Given the description of an element on the screen output the (x, y) to click on. 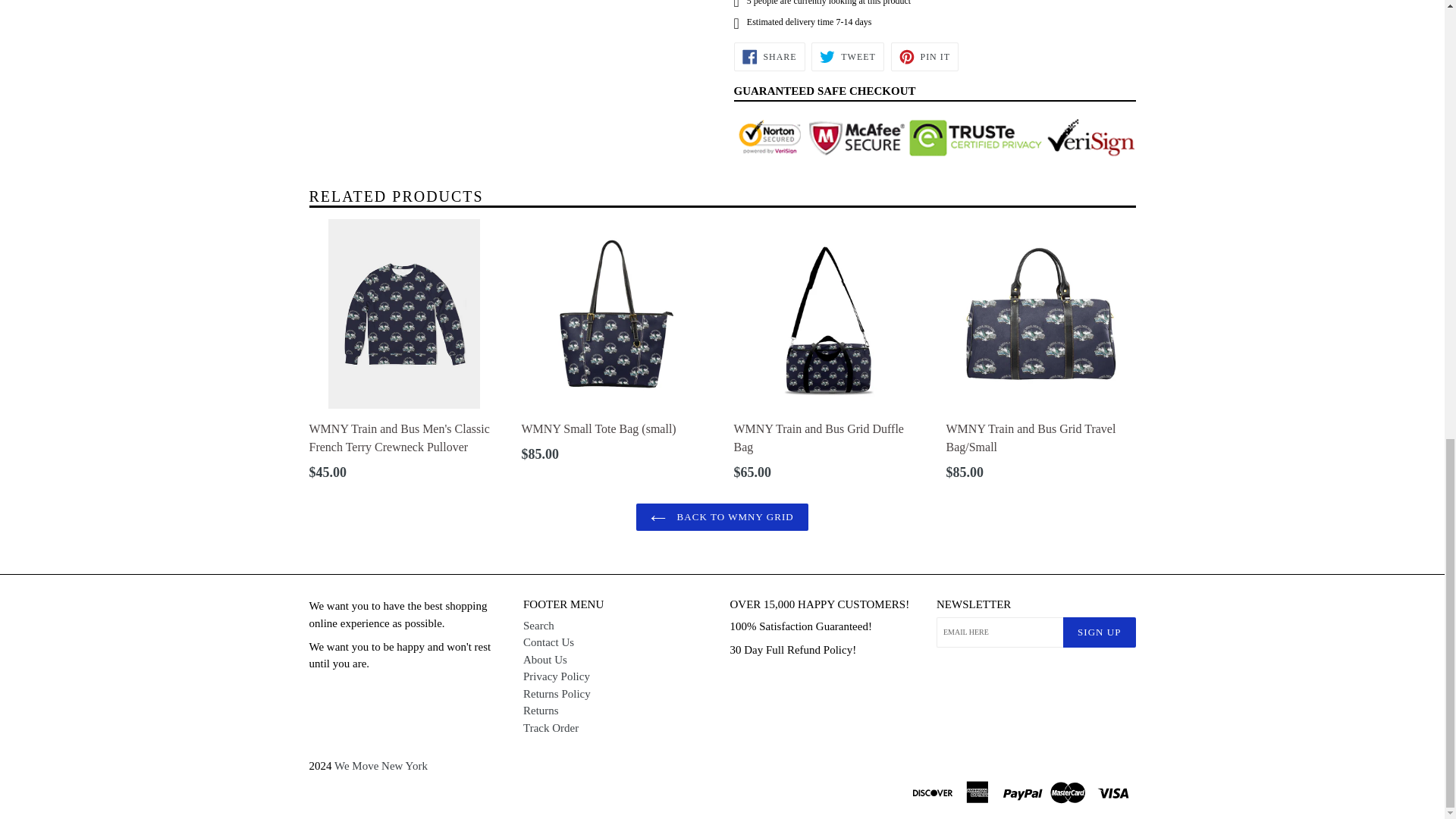
Pin on Pinterest (924, 56)
visa (1114, 791)
discover (933, 791)
american express (979, 791)
paypal (769, 56)
Share on Facebook (1024, 791)
Tweet on Twitter (769, 56)
